Given the description of an element on the screen output the (x, y) to click on. 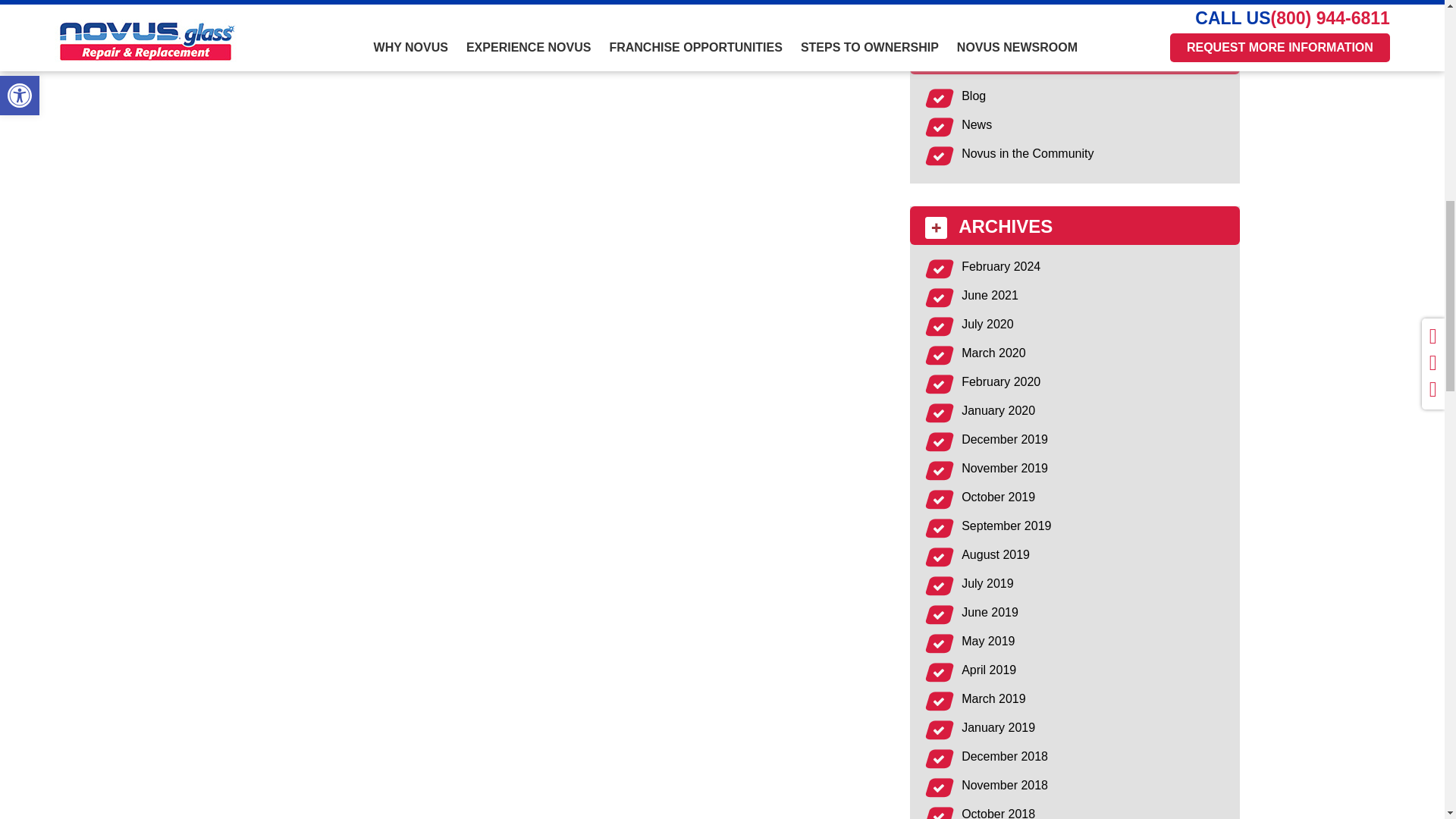
January 2020 (997, 410)
February 2024 (1000, 266)
News (975, 124)
Novus in the Community (1026, 153)
July 2020 (986, 323)
August 2019 (994, 554)
February 2020 (1000, 381)
October 2019 (997, 496)
March 2020 (993, 352)
December 2019 (1004, 439)
